Given the description of an element on the screen output the (x, y) to click on. 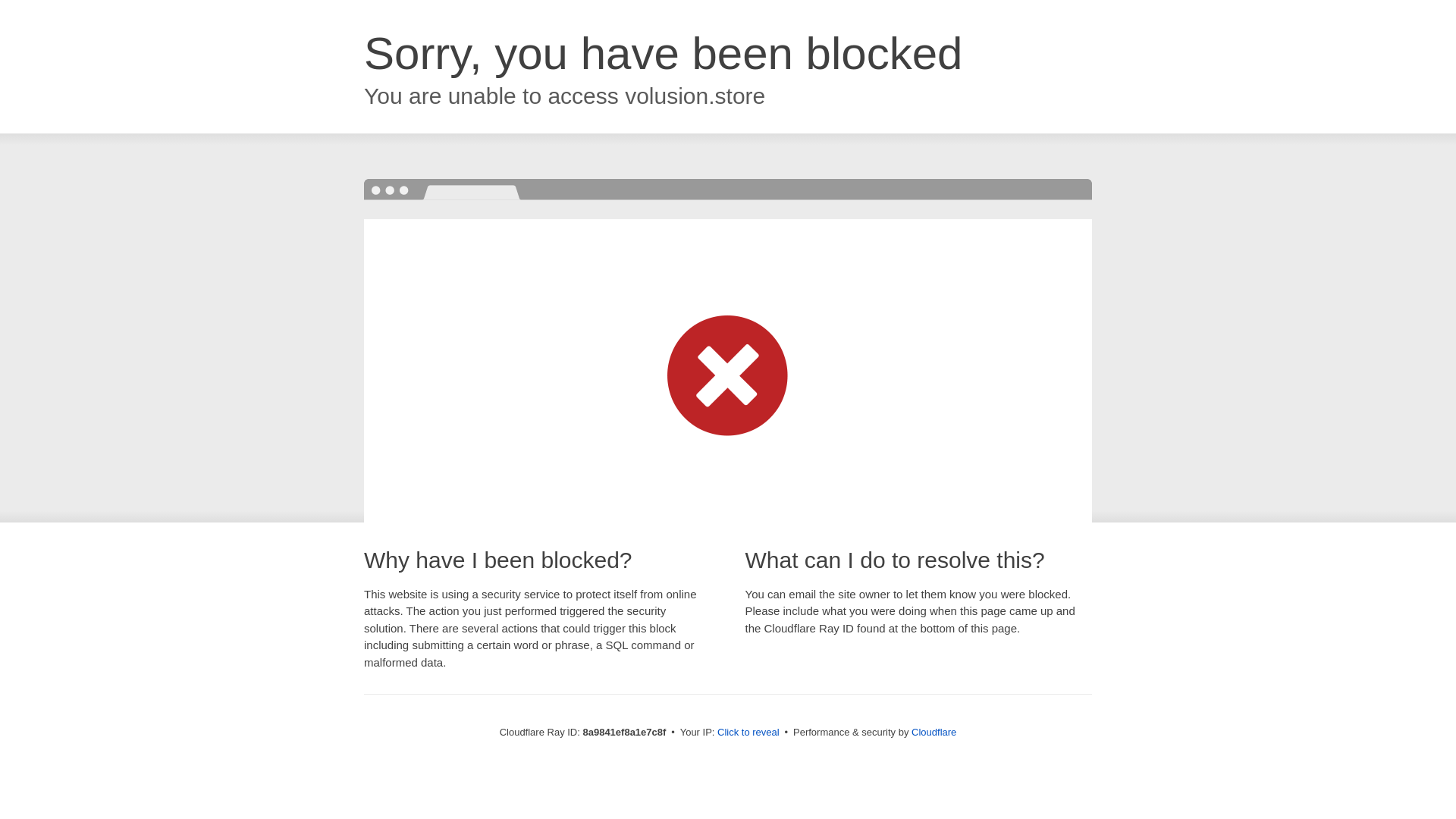
Cloudflare (933, 731)
Click to reveal (747, 732)
